Given the description of an element on the screen output the (x, y) to click on. 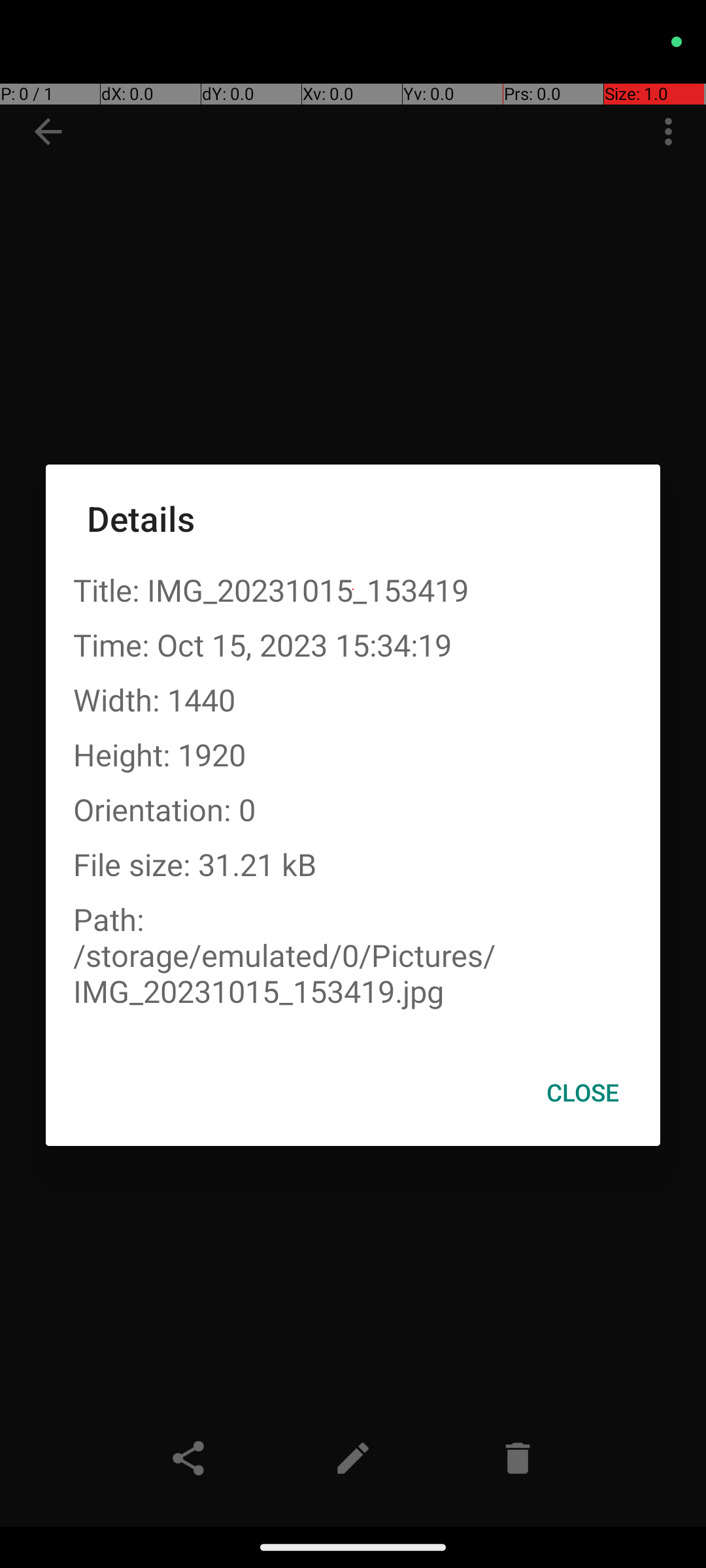
Title: IMG_20231015_153419 Element type: android.widget.TextView (352, 589)
Time: Oct 15, 2023 15:34:19 Element type: android.widget.TextView (352, 644)
Width: 1440 Element type: android.widget.TextView (352, 698)
Height: 1920 Element type: android.widget.TextView (352, 753)
Orientation: 0 Element type: android.widget.TextView (352, 808)
File size: 31.21 kB Element type: android.widget.TextView (352, 863)
Path: 
/storage/emulated/0/Pictures/IMG_20231015_153419.jpg Element type: android.widget.TextView (352, 954)
CLOSE Element type: android.widget.Button (582, 1091)
